Given the description of an element on the screen output the (x, y) to click on. 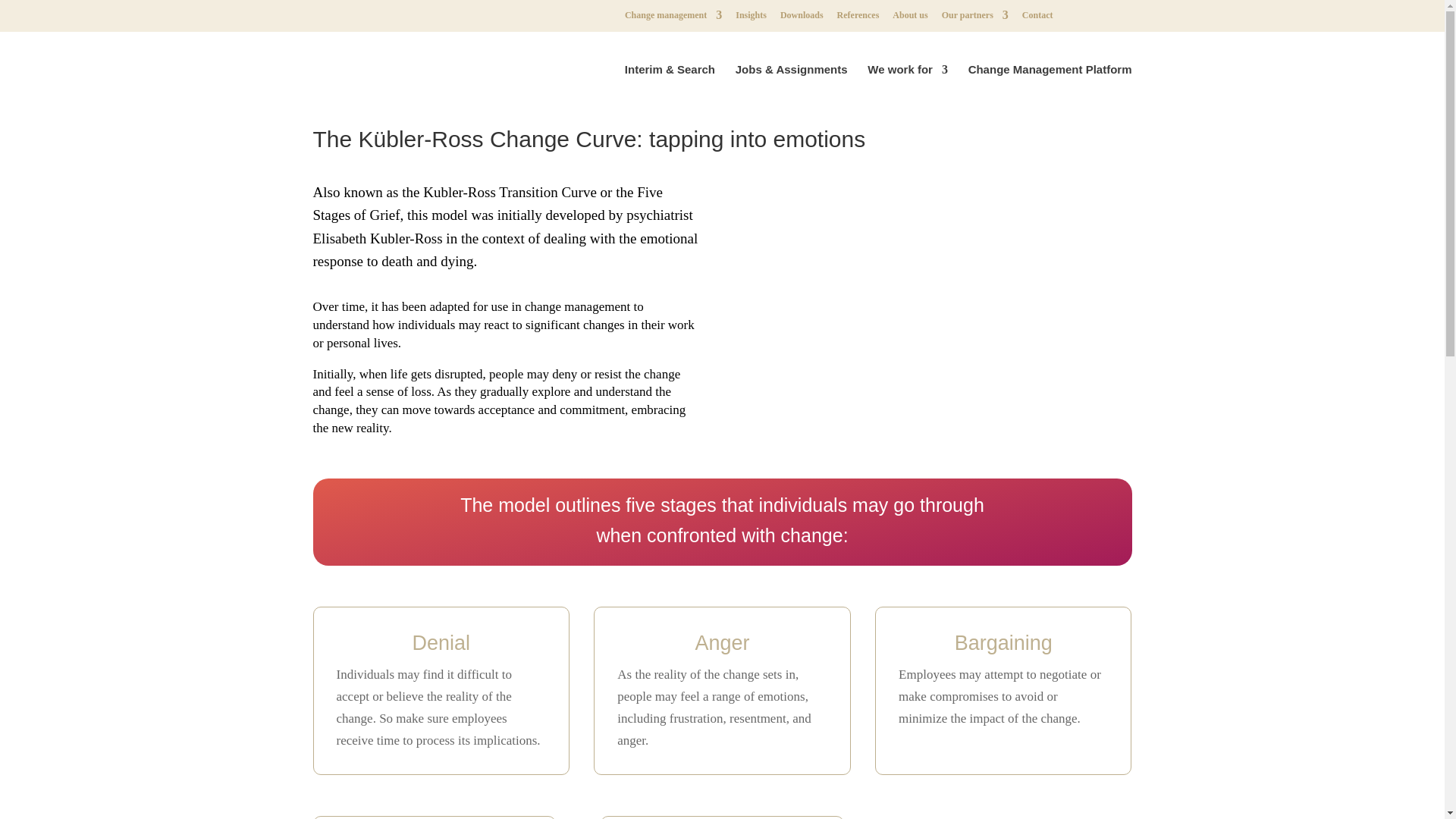
English (1078, 18)
elisabeth-kubler-ross (937, 307)
Contact (1037, 18)
Our partners (975, 18)
Change Management Platform (1050, 90)
Change management (673, 18)
About us (909, 18)
We work for (907, 90)
Nederlands (1118, 18)
References (858, 18)
Downloads (802, 18)
Insights (751, 18)
